Given the description of an element on the screen output the (x, y) to click on. 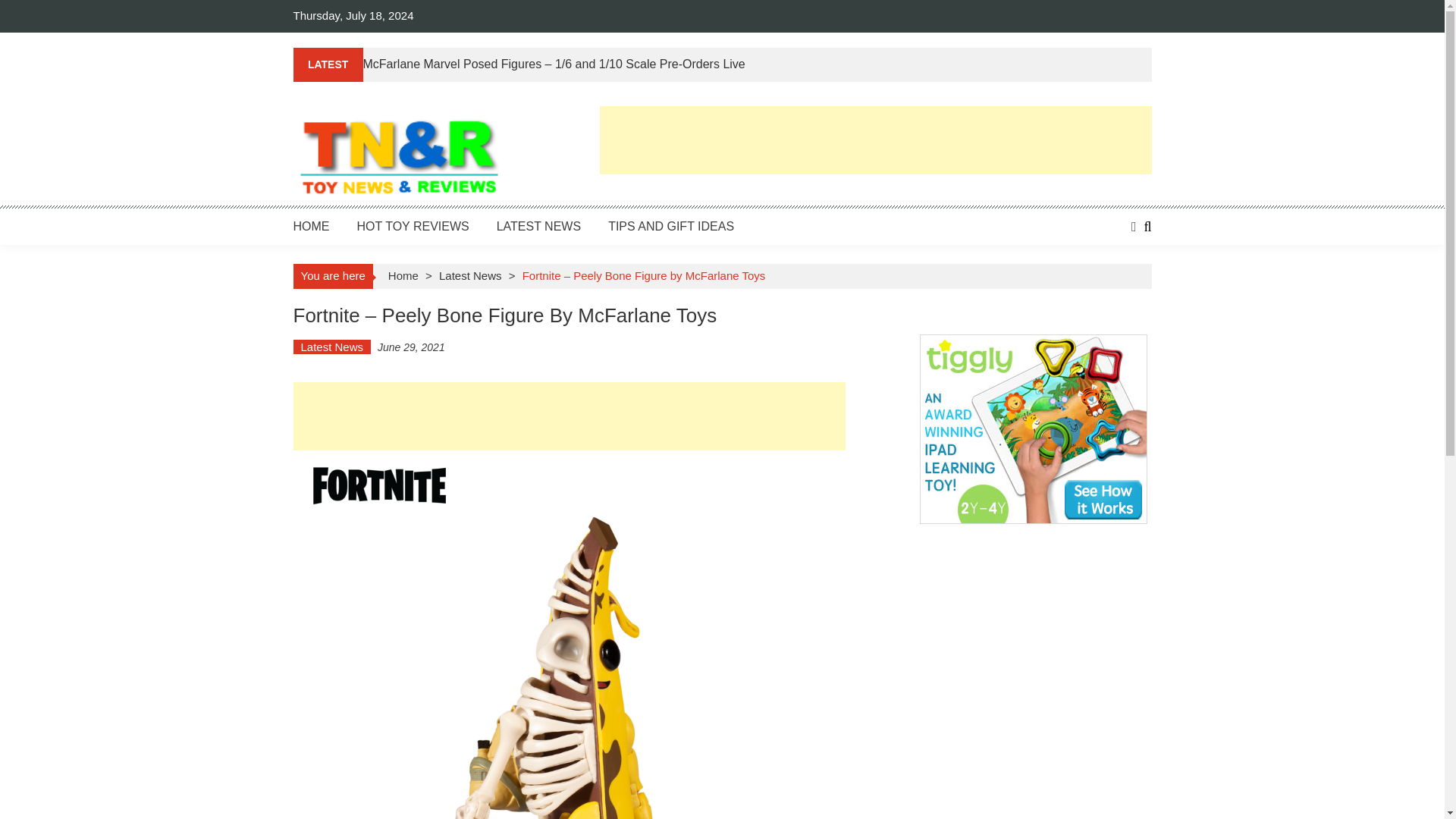
Latest News (470, 275)
Advertisement (568, 416)
Latest News (331, 346)
LATEST NEWS (538, 226)
Advertisement (874, 140)
TIPS AND GIFT IDEAS (670, 226)
HOT TOY REVIEWS (412, 226)
HOME (310, 226)
